Given the description of an element on the screen output the (x, y) to click on. 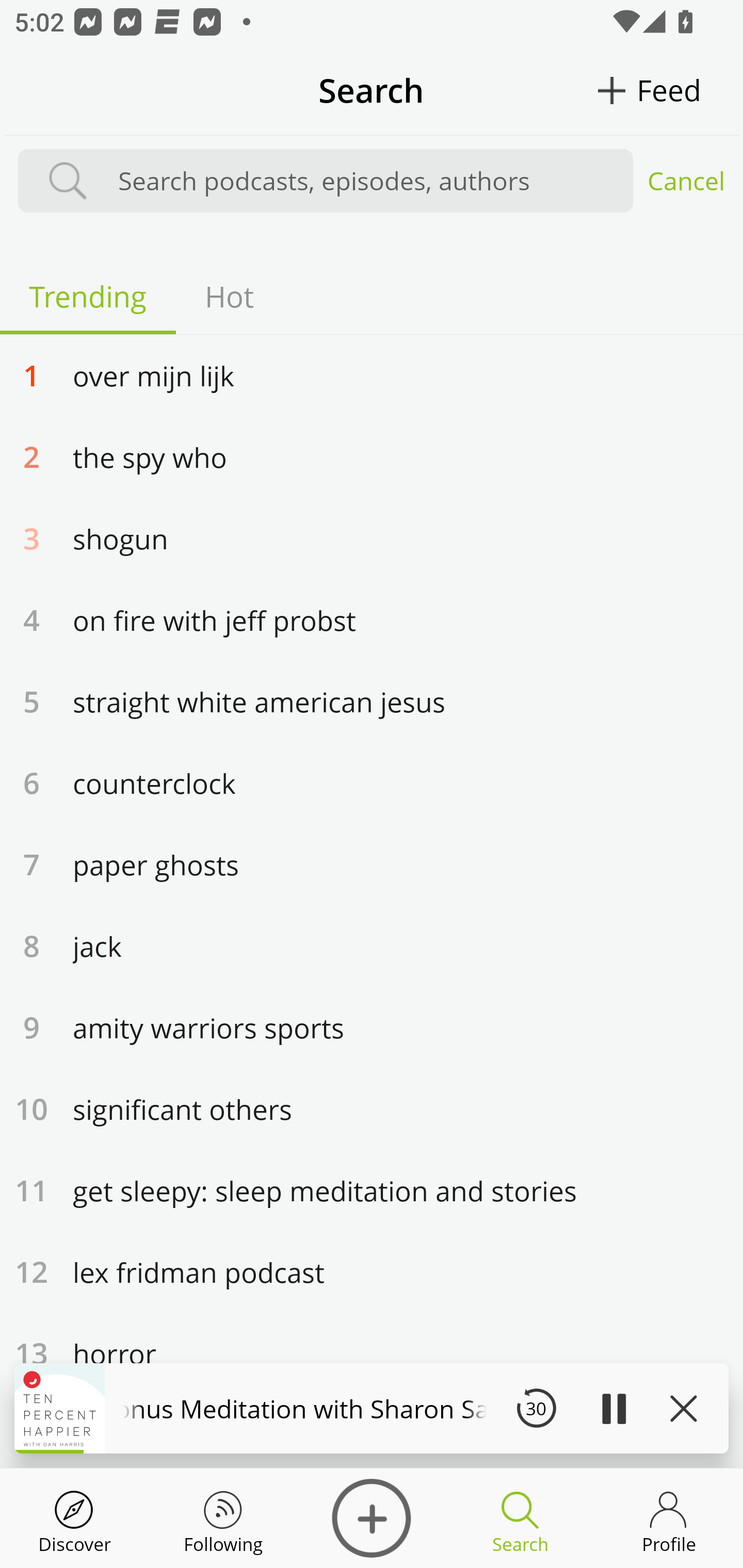
Feed (668, 90)
Cancel (686, 180)
Search podcasts, episodes, authors (366, 180)
Trending (88, 295)
Hot (229, 295)
1 over mijn lijk (371, 374)
2 the spy who (371, 456)
3 shogun (371, 537)
4 on fire with jeff probst (371, 619)
5 straight white american jesus (371, 700)
6 counterclock (371, 782)
7 paper ghosts (371, 863)
8 jack (371, 945)
9 amity warriors sports (371, 1026)
10 significant others (371, 1108)
11 get sleepy: sleep meditation and stories (371, 1189)
12 lex fridman podcast (371, 1271)
Play (613, 1407)
30 Seek Backward (536, 1407)
Discover (74, 1518)
Discover Following (222, 1518)
Discover (371, 1518)
Discover Profile (668, 1518)
